Given the description of an element on the screen output the (x, y) to click on. 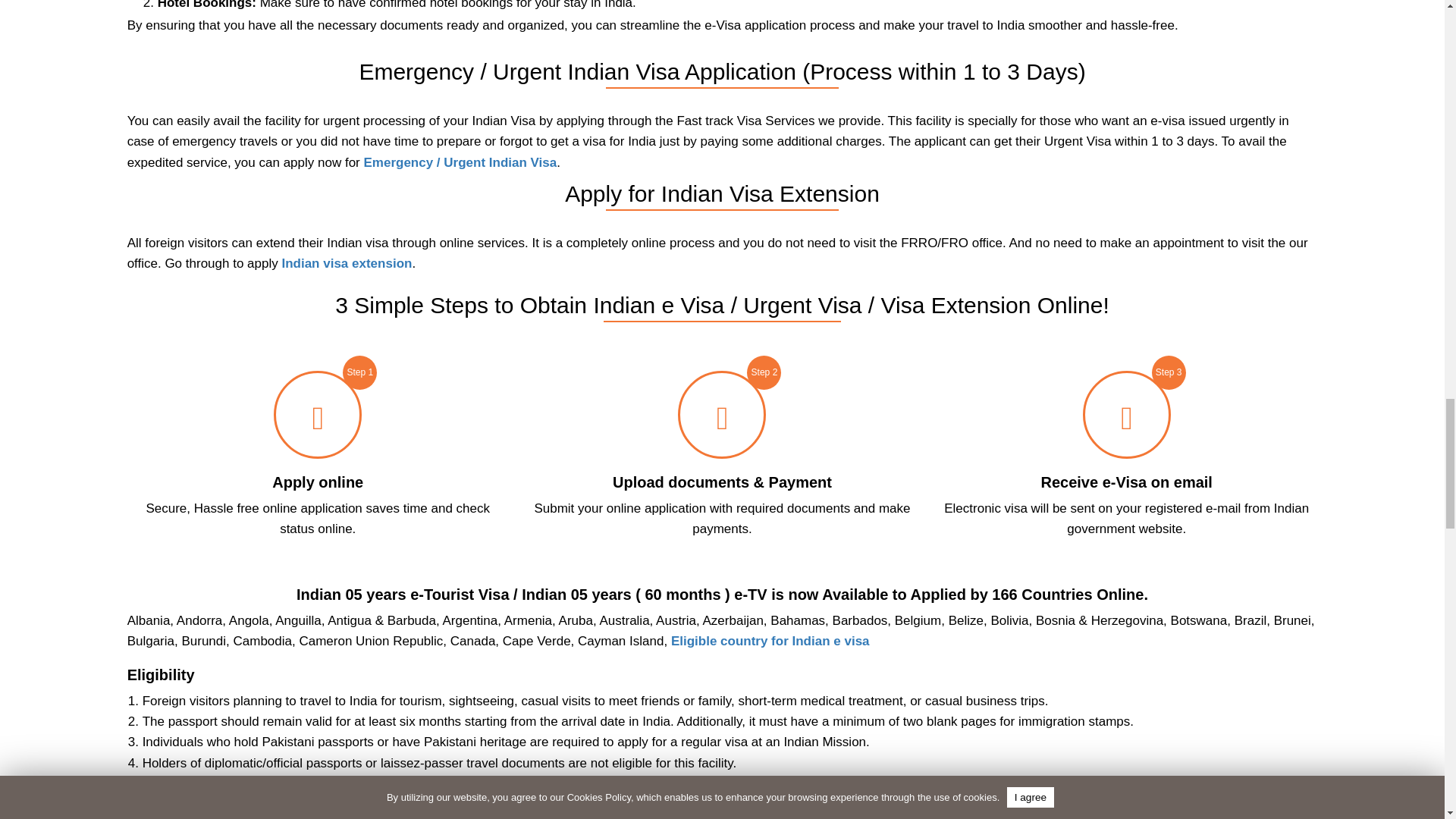
Apply Indian visa Extension (346, 263)
Apply visa (318, 414)
Eligible country for Indian e visa (770, 640)
Indian visa extension (346, 263)
Visa Status (721, 414)
Eligible country for Indian e visa (770, 640)
Emergency Visa to India (459, 162)
